Given the description of an element on the screen output the (x, y) to click on. 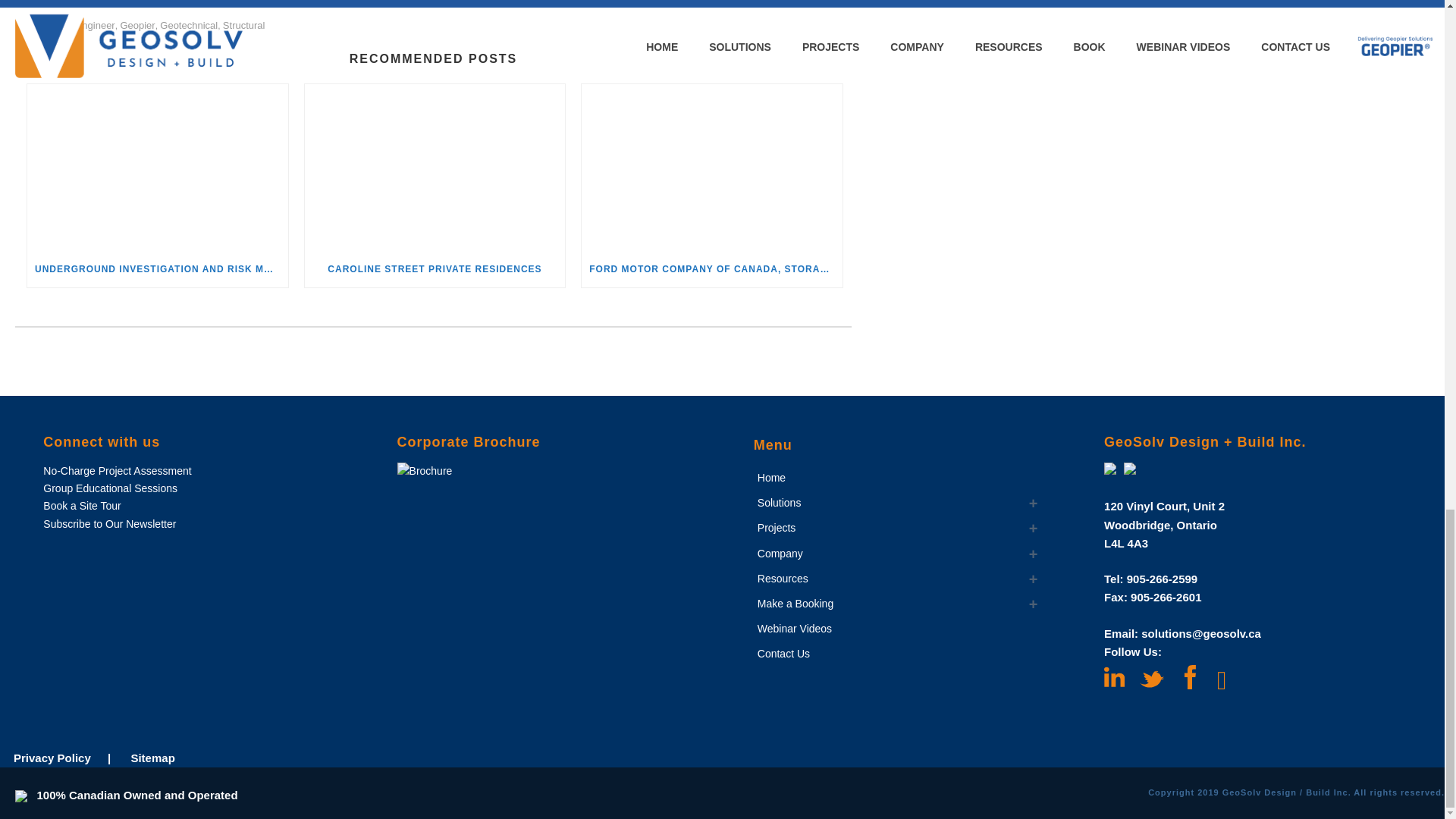
Like Us on Facebook (1189, 678)
Ford Motor Company of Canada, Storage Tanks (711, 167)
Follow Us on twitter (1151, 680)
Caroline Street Private Residences (435, 167)
